Given the description of an element on the screen output the (x, y) to click on. 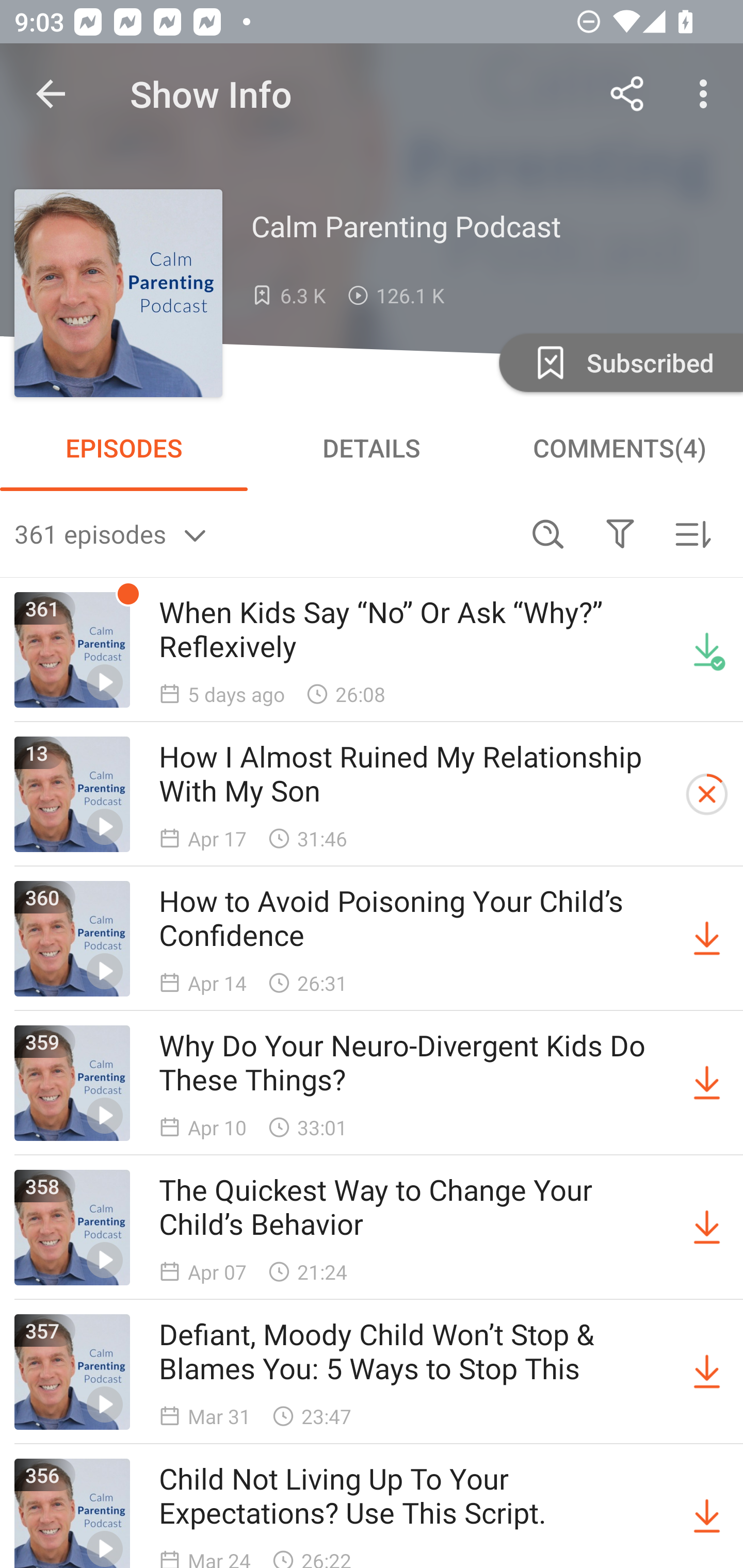
Navigate up (50, 93)
Share (626, 93)
More options (706, 93)
Unsubscribe Subscribed (619, 361)
EPISODES (123, 447)
DETAILS (371, 447)
COMMENTS(4) (619, 447)
361 episodes  (262, 533)
 Search (547, 533)
 (619, 533)
 Sorted by newest first (692, 533)
Downloaded (706, 649)
Cancel Downloading (706, 793)
Download (706, 939)
Download (706, 1083)
Download (706, 1227)
Download (706, 1371)
Download (706, 1513)
